Given the description of an element on the screen output the (x, y) to click on. 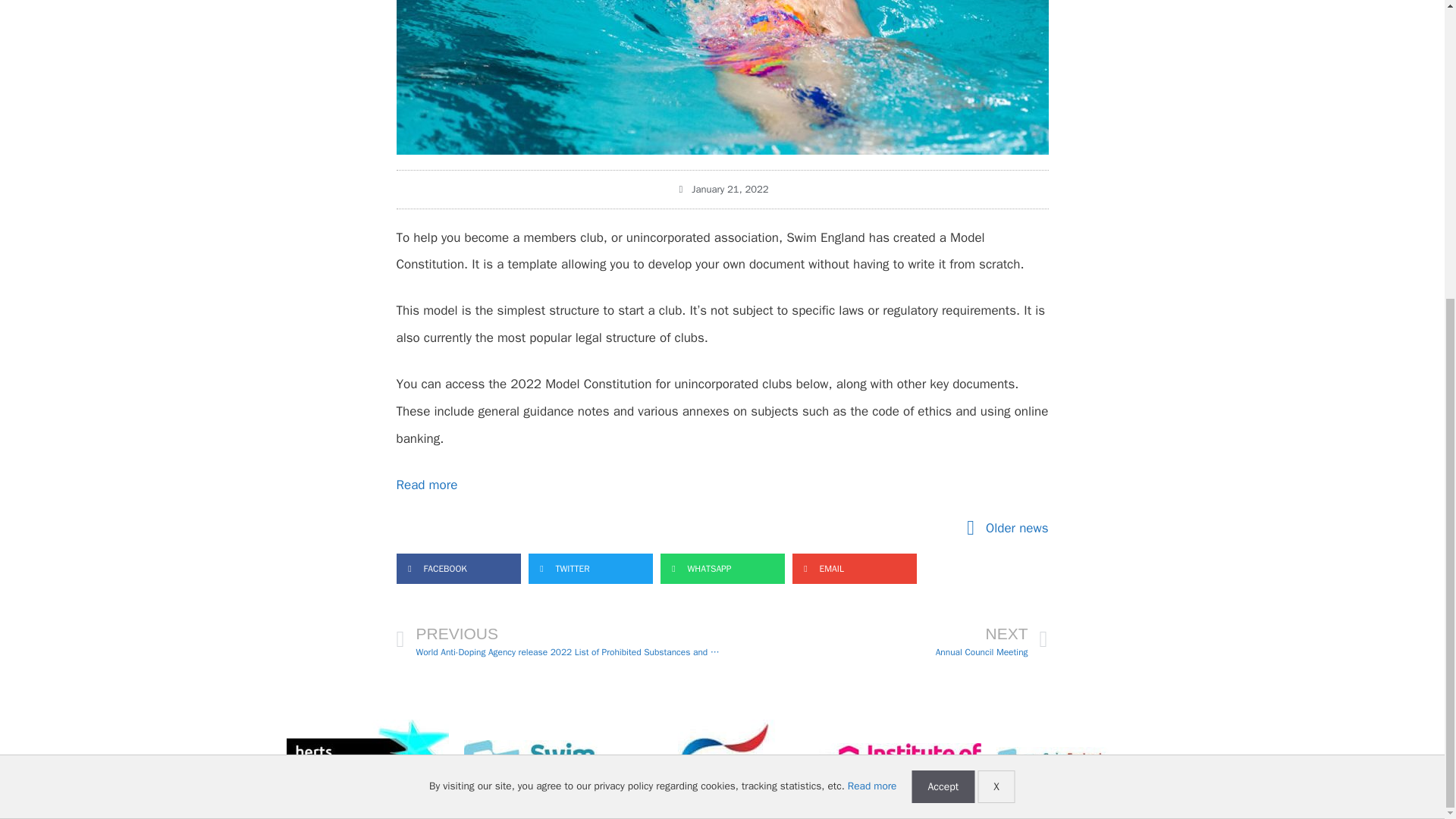
Accept (942, 324)
Read more (871, 323)
X (995, 324)
